Given the description of an element on the screen output the (x, y) to click on. 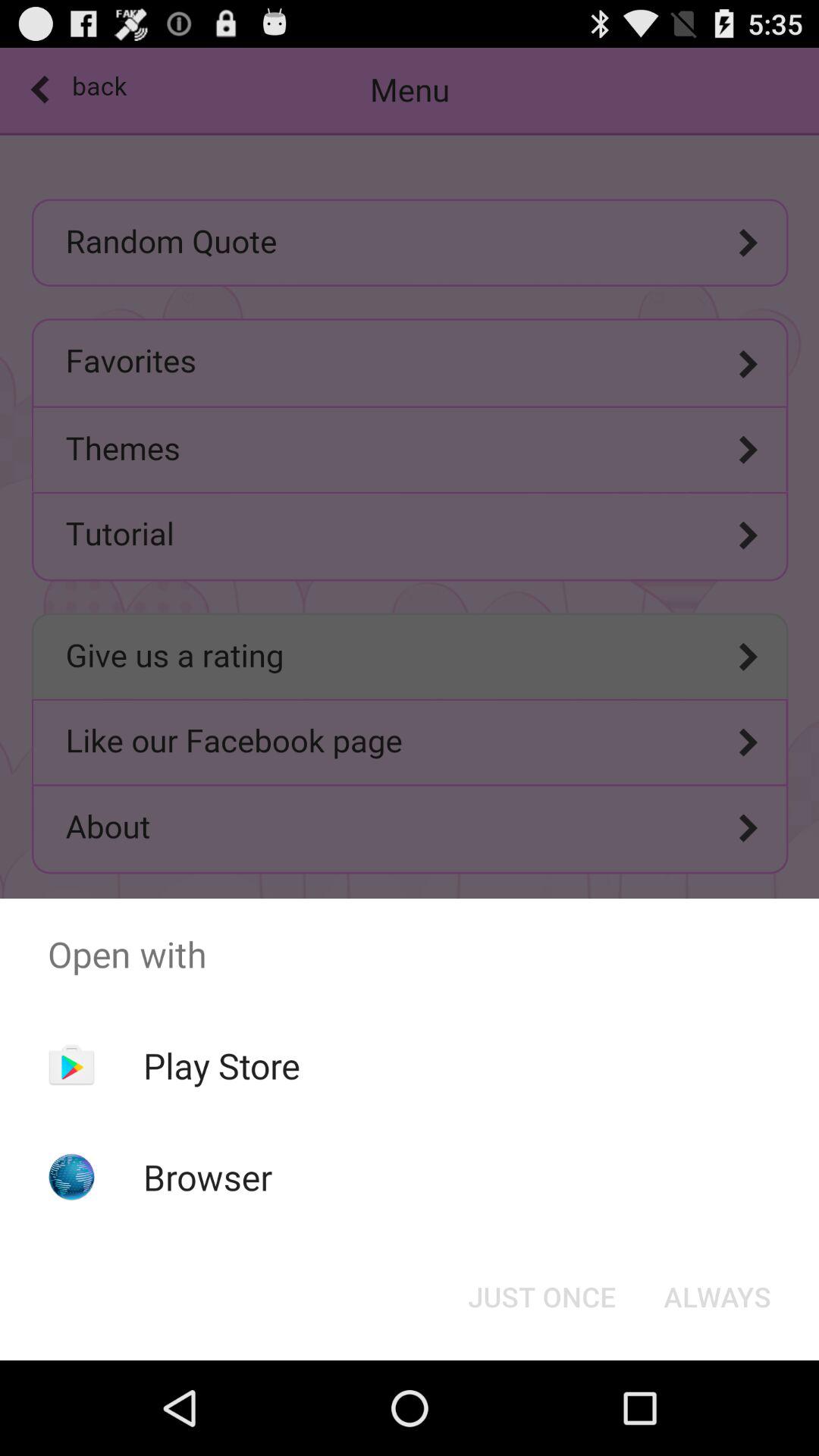
turn off the item below open with icon (541, 1296)
